Given the description of an element on the screen output the (x, y) to click on. 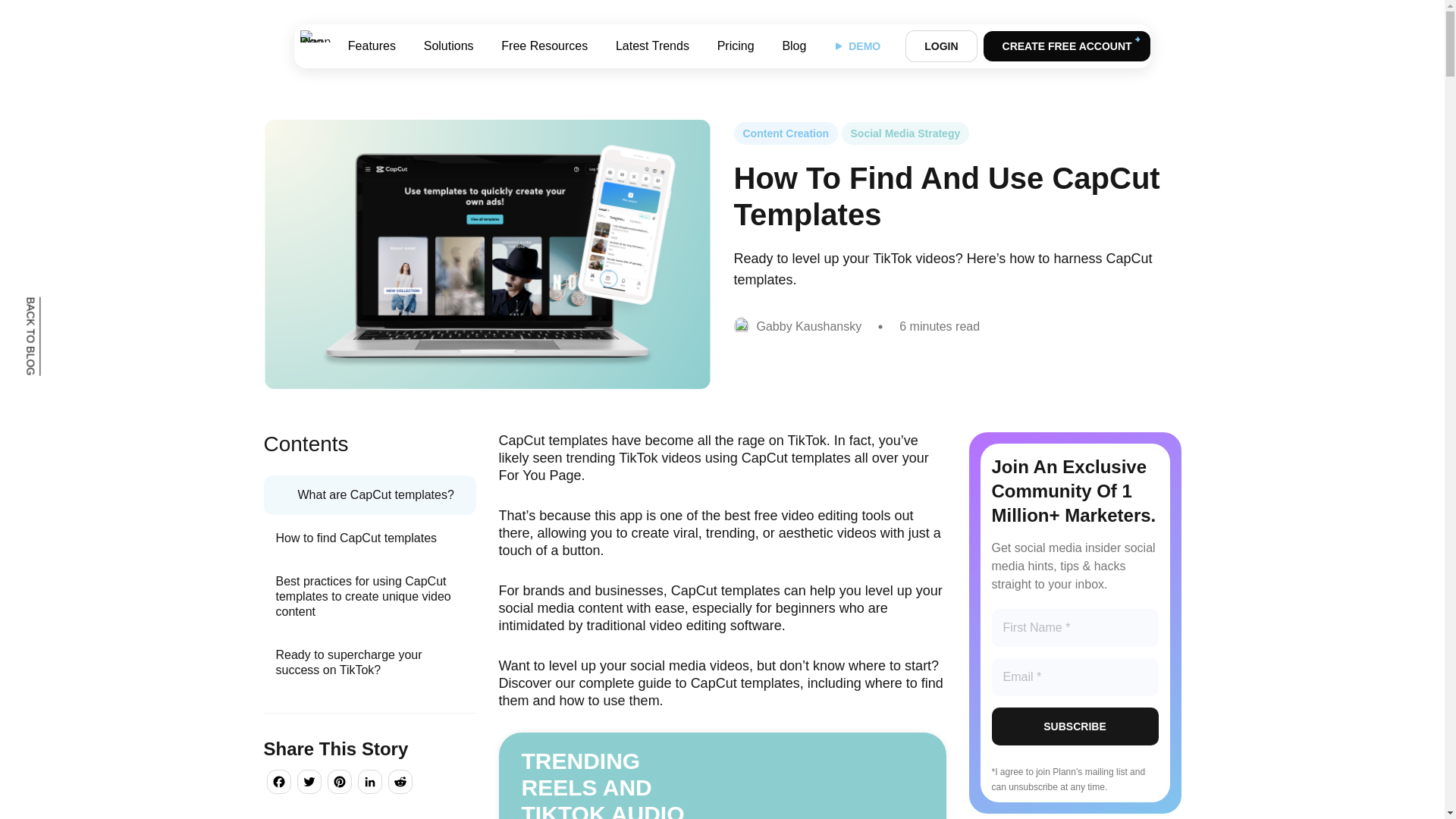
Go Home (315, 46)
Twitter (309, 783)
Pinterest (339, 783)
Reddit (399, 783)
LinkedIn (370, 783)
Facebook (278, 783)
Subscribe (1074, 726)
